Given the description of an element on the screen output the (x, y) to click on. 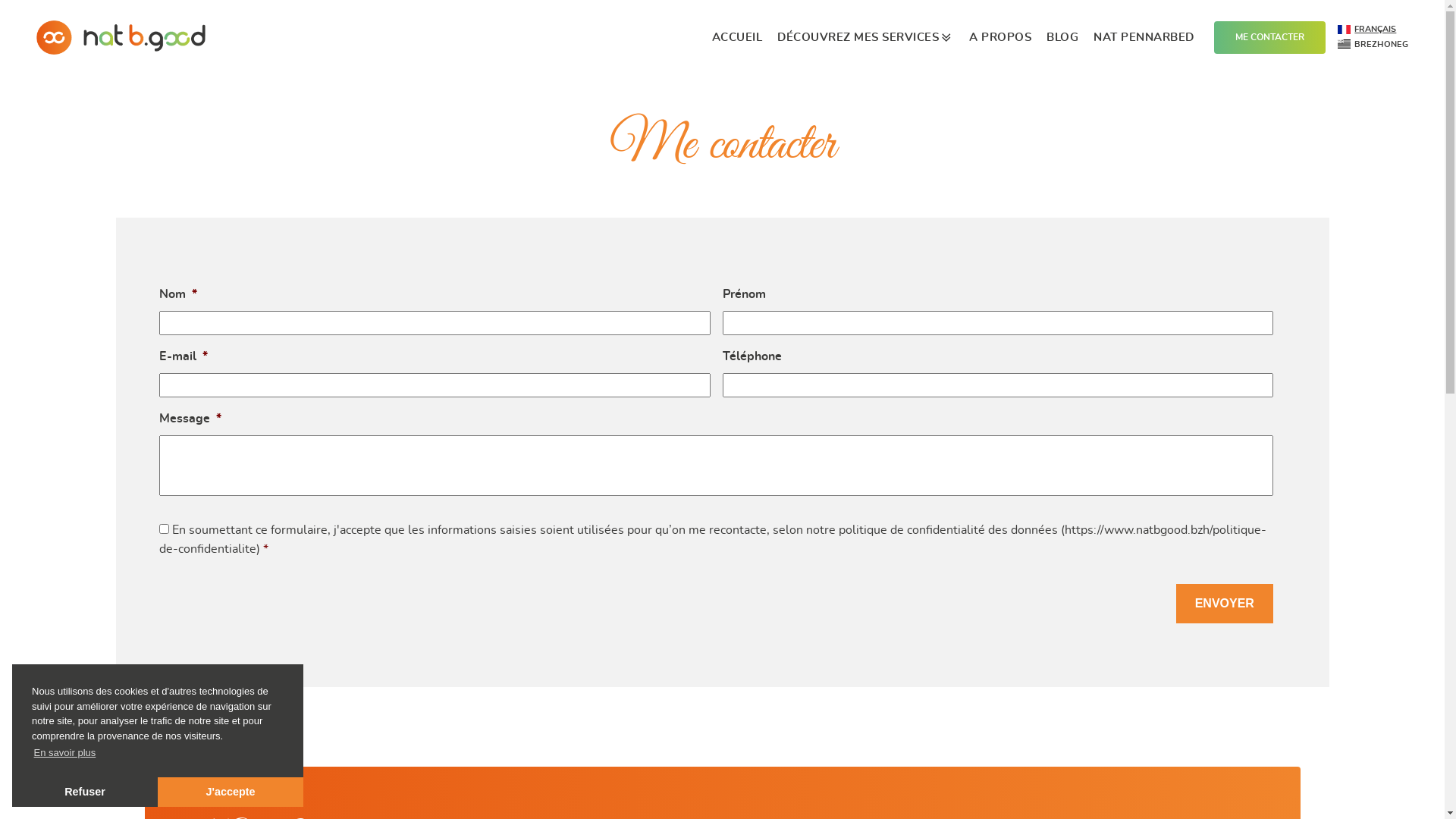
BREZHONEG Element type: text (1372, 44)
NAT PENNARBED Element type: text (1143, 37)
A PROPOS Element type: text (999, 37)
En savoir plus Element type: text (64, 752)
ACCUEIL Element type: text (737, 37)
ME CONTACTER Element type: text (1269, 37)
BLOG Element type: text (1061, 37)
Envoyer Element type: text (1224, 603)
J'accepte Element type: text (230, 791)
Refuser Element type: text (84, 791)
